Given the description of an element on the screen output the (x, y) to click on. 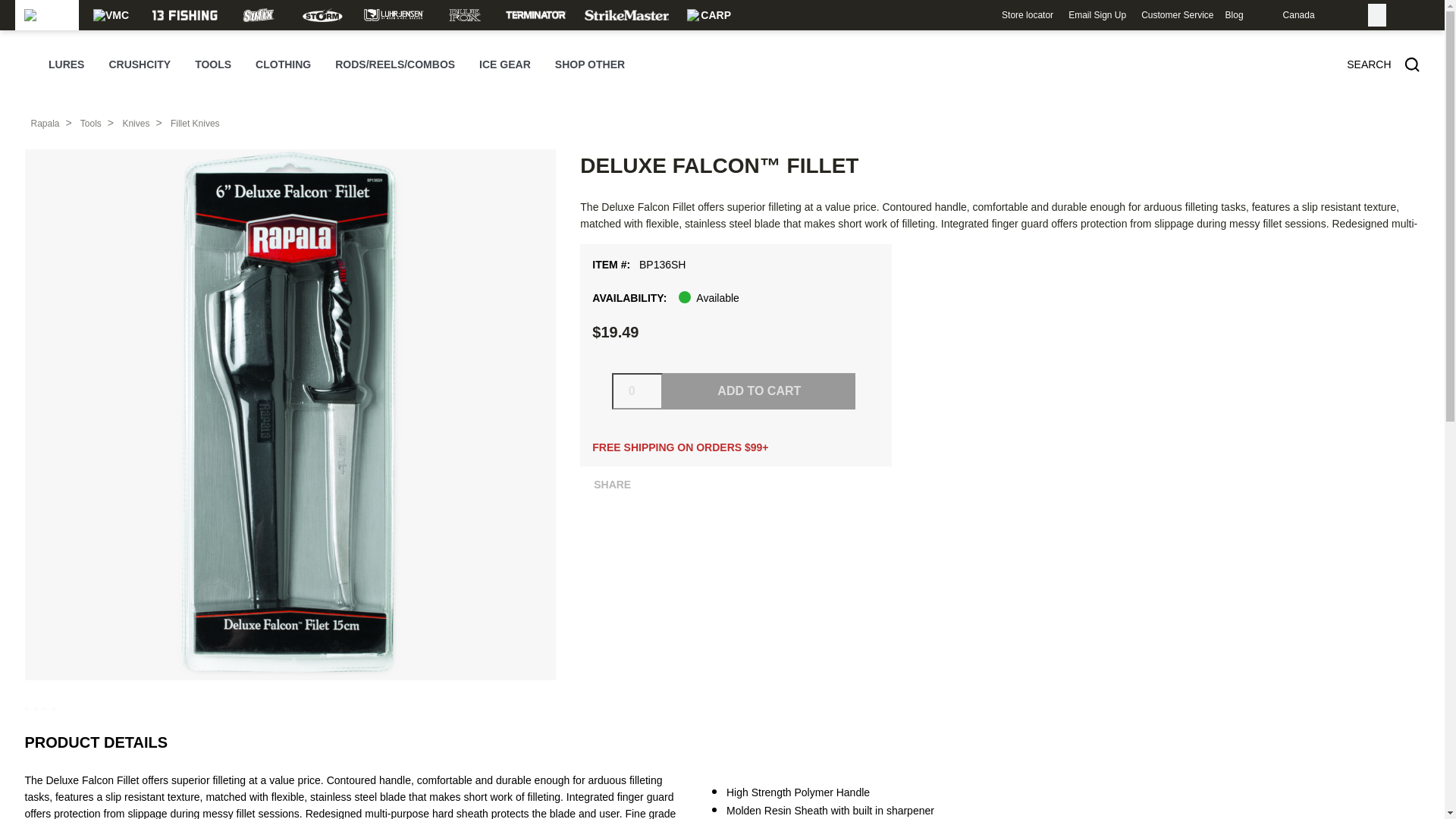
Store locator (1026, 15)
ICE GEAR (505, 64)
SHOP OTHER (589, 64)
TOOLS (213, 64)
Canada (1282, 15)
Share (606, 484)
LURES (66, 64)
PLUS (583, 484)
CRUSHCITY (138, 64)
Rapala (44, 122)
Email Sign Up (1096, 15)
Choose a region (1282, 15)
CLOTHING (283, 64)
0 (636, 391)
Customer Service (1176, 15)
